Given the description of an element on the screen output the (x, y) to click on. 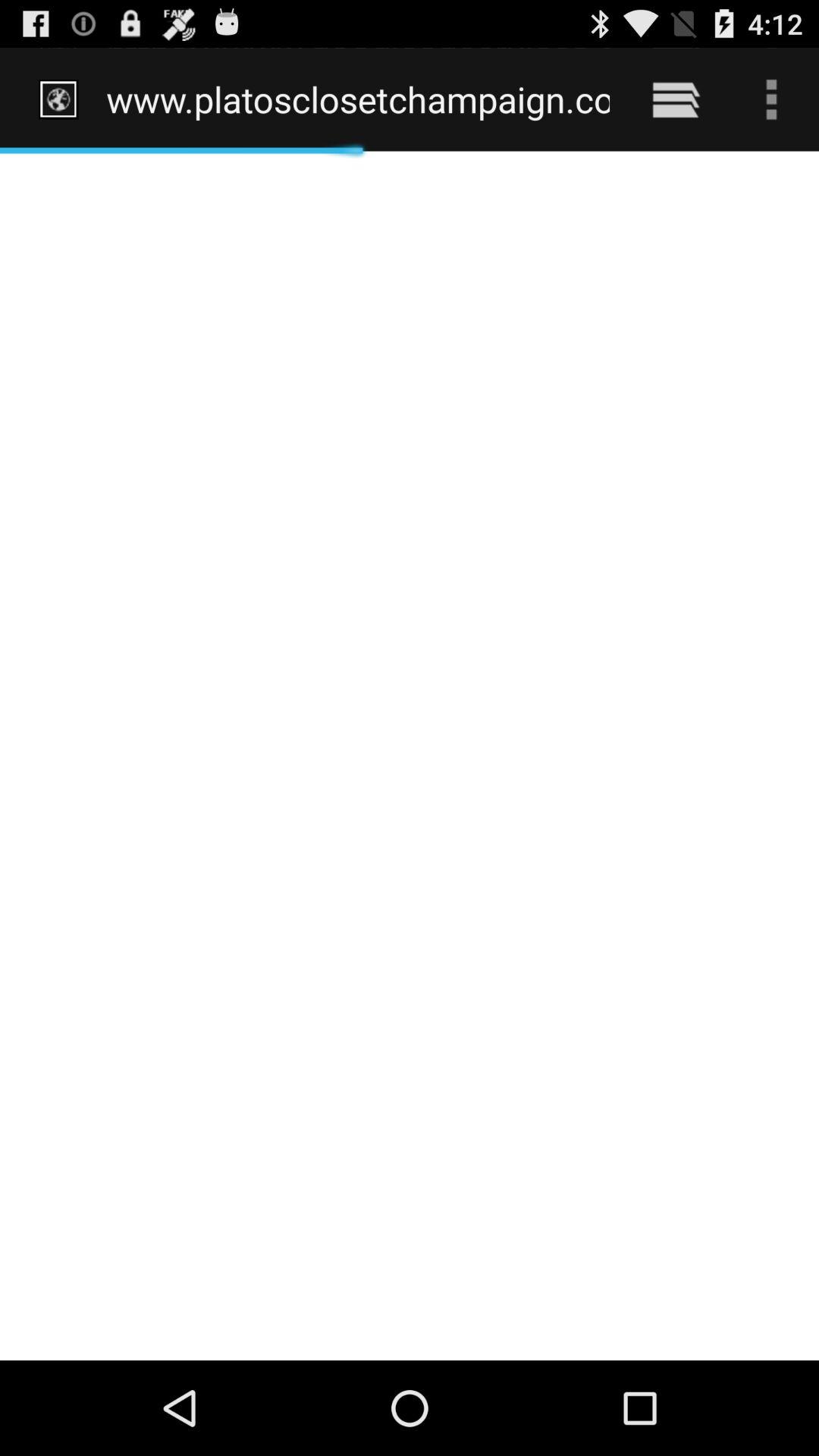
flip until the www.platosclosetchampaign.com icon (357, 99)
